Given the description of an element on the screen output the (x, y) to click on. 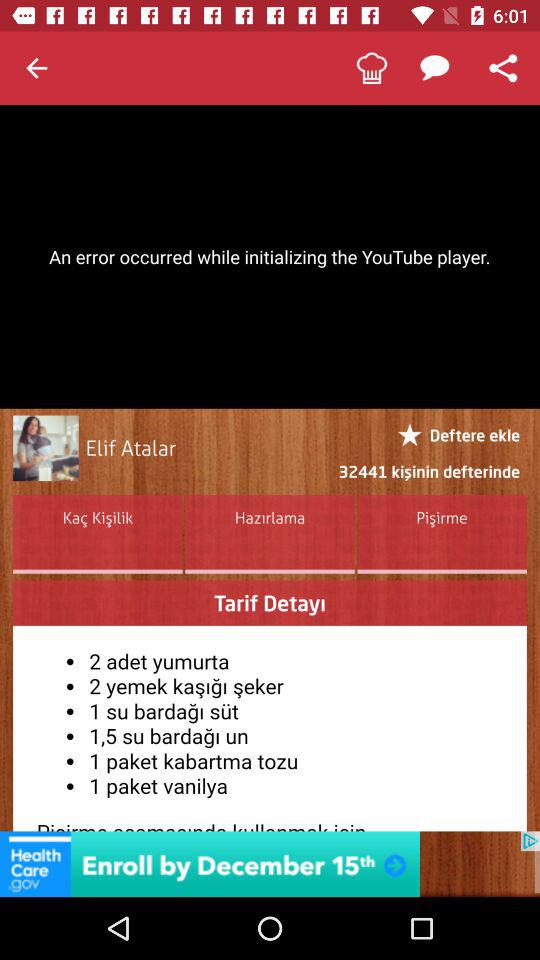
advertisement (270, 864)
